Given the description of an element on the screen output the (x, y) to click on. 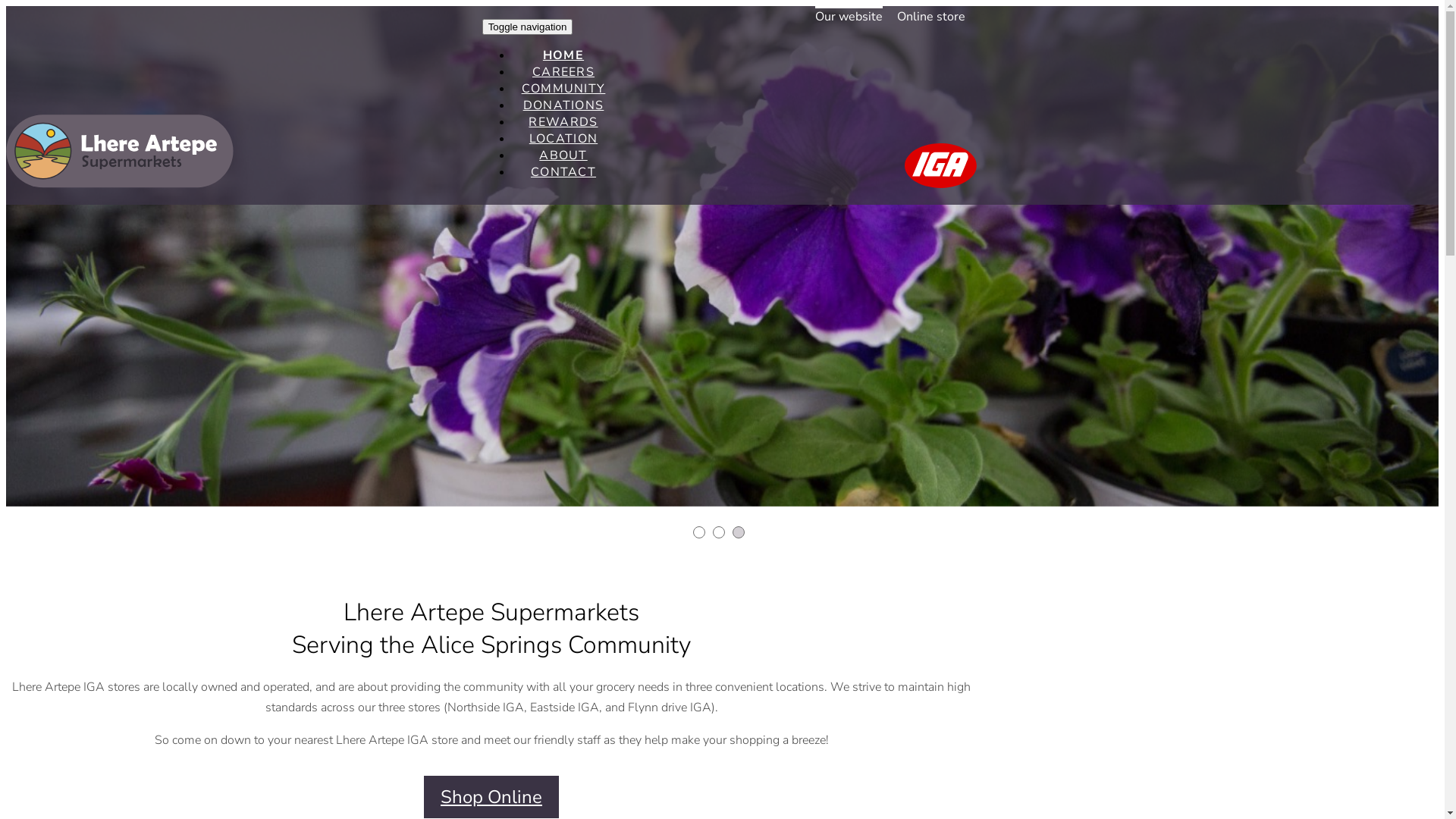
2 Element type: text (718, 532)
1 Element type: text (699, 532)
Our website Element type: text (848, 15)
Lhere Artepe Supermarkets logo Element type: hover (119, 150)
link to the home page Element type: hover (119, 183)
COMMUNITY Element type: text (563, 88)
3 Element type: text (738, 532)
Toggle navigation Element type: text (527, 26)
HOME Element type: text (563, 55)
CAREERS Element type: text (563, 71)
IGA logo Element type: hover (940, 165)
REWARDS Element type: text (562, 121)
CONTACT Element type: text (563, 171)
LOCATION Element type: text (563, 138)
ABOUT Element type: text (563, 155)
Online store Element type: text (931, 15)
DONATIONS Element type: text (563, 105)
Shop Online Element type: text (490, 796)
